Given the description of an element on the screen output the (x, y) to click on. 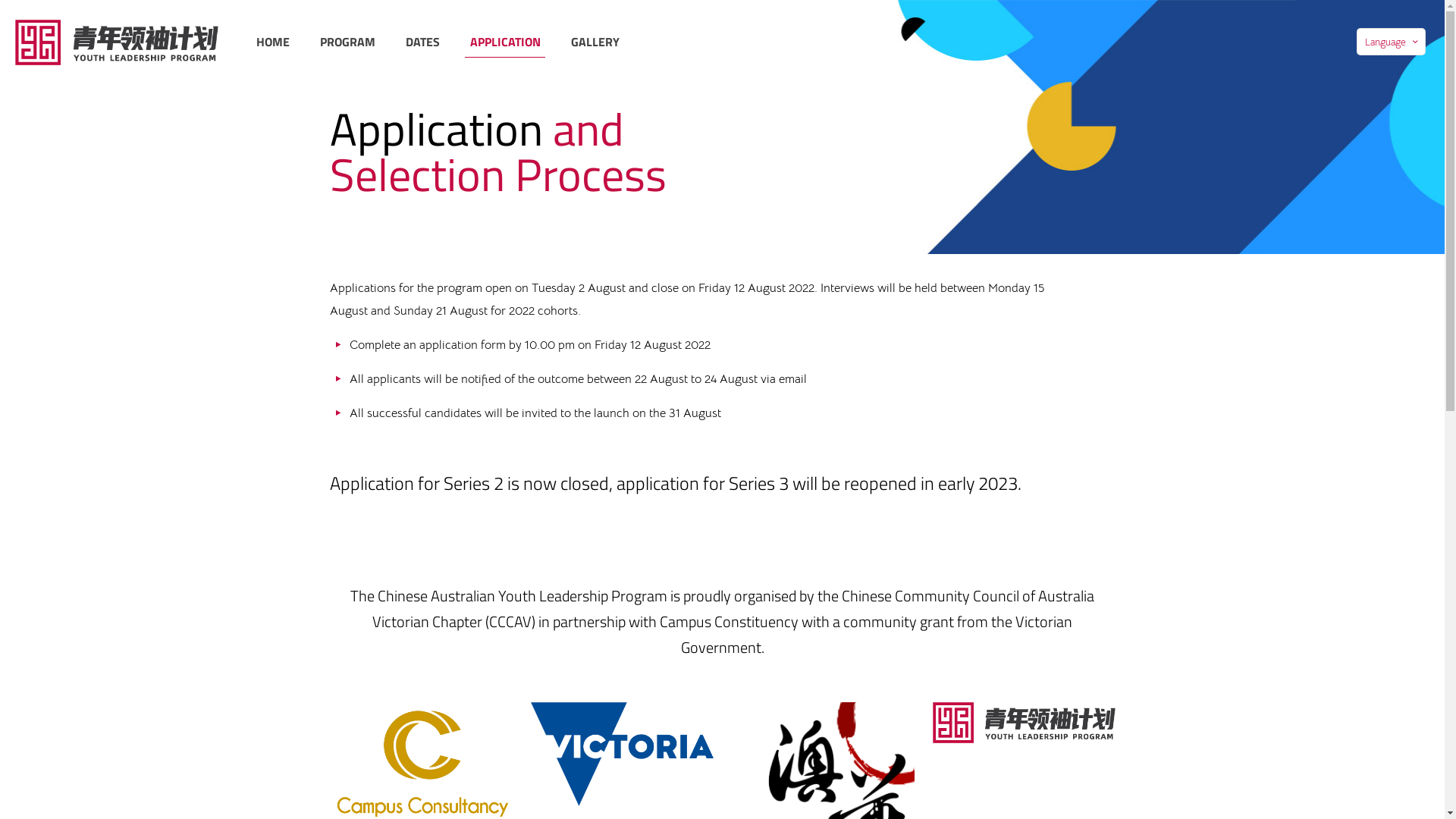
Language Element type: text (1390, 41)
PROGRAM Element type: text (347, 41)
DATES Element type: text (422, 41)
Chinese Australian Youth Leadership Program Element type: hover (116, 41)
HOME Element type: text (272, 41)
GALLERY Element type: text (594, 41)
APPLICATION Element type: text (505, 41)
